Given the description of an element on the screen output the (x, y) to click on. 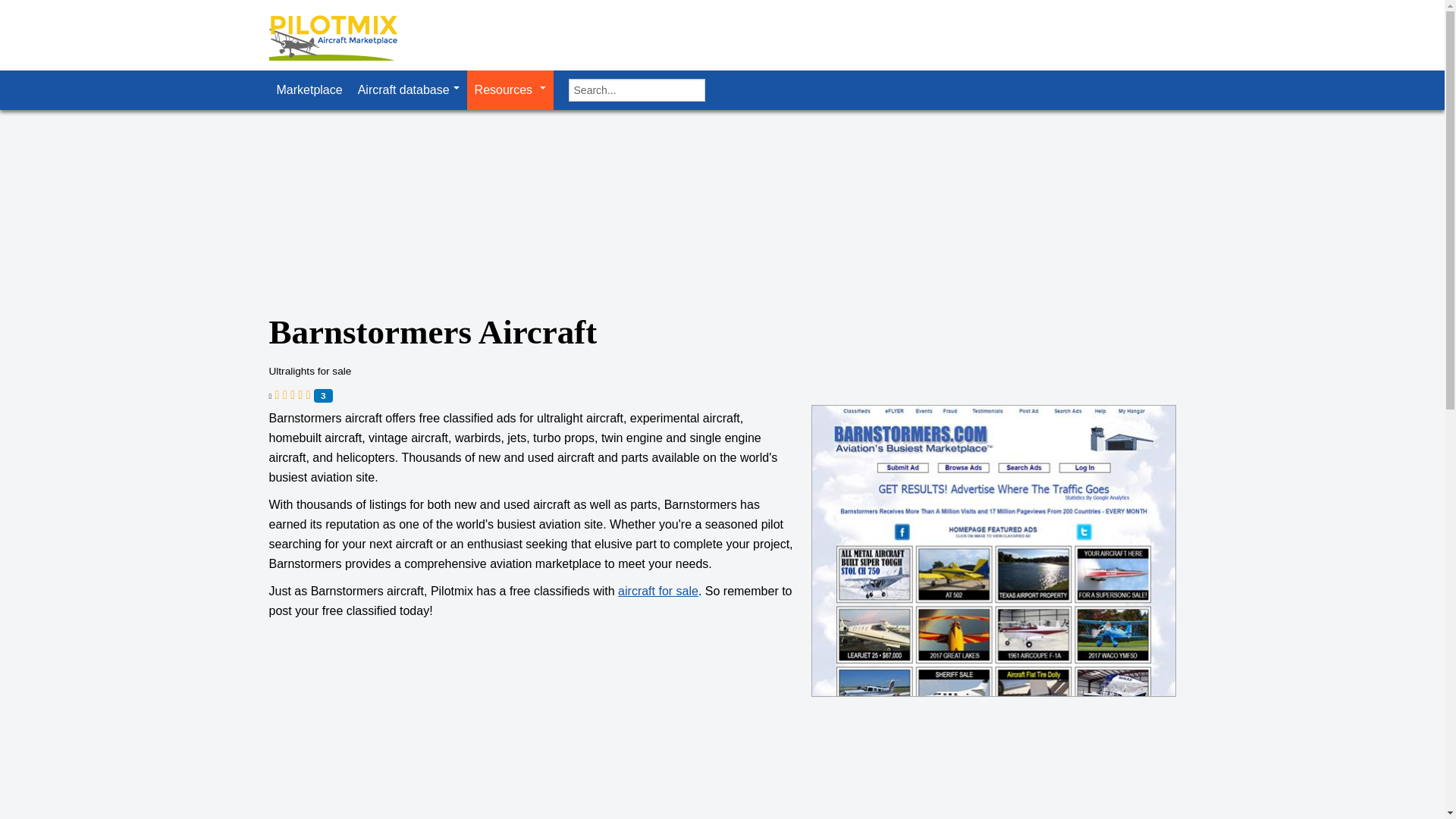
Advertisement (419, 727)
Advertisement (544, 248)
Marketplace (308, 89)
Barnstormers Aircraft (992, 550)
Search... (636, 89)
Aircraft database (408, 89)
Search... (636, 89)
Pilotmix (345, 39)
